Given the description of an element on the screen output the (x, y) to click on. 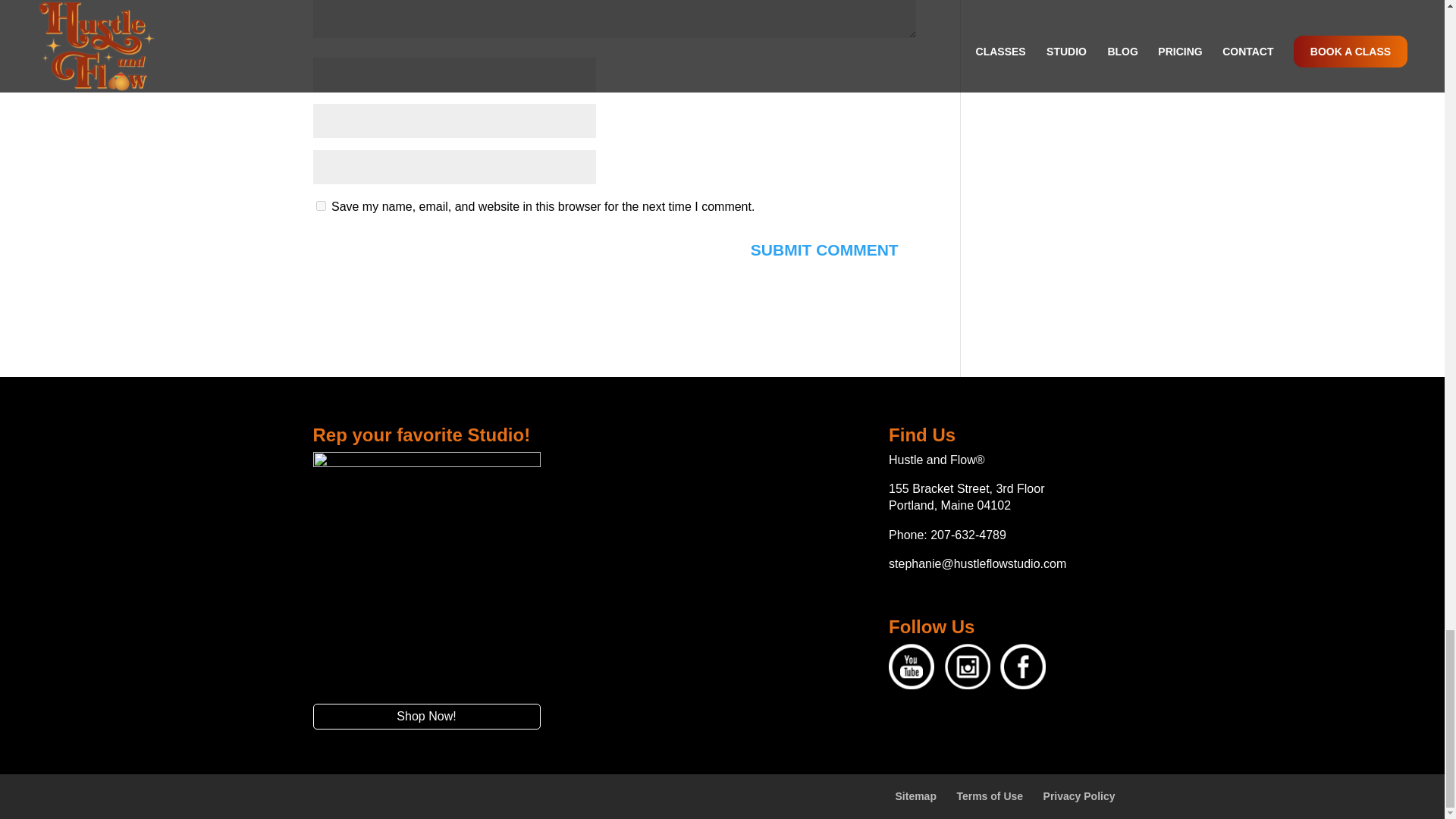
Submit Comment (824, 249)
yes (319, 205)
